Given the description of an element on the screen output the (x, y) to click on. 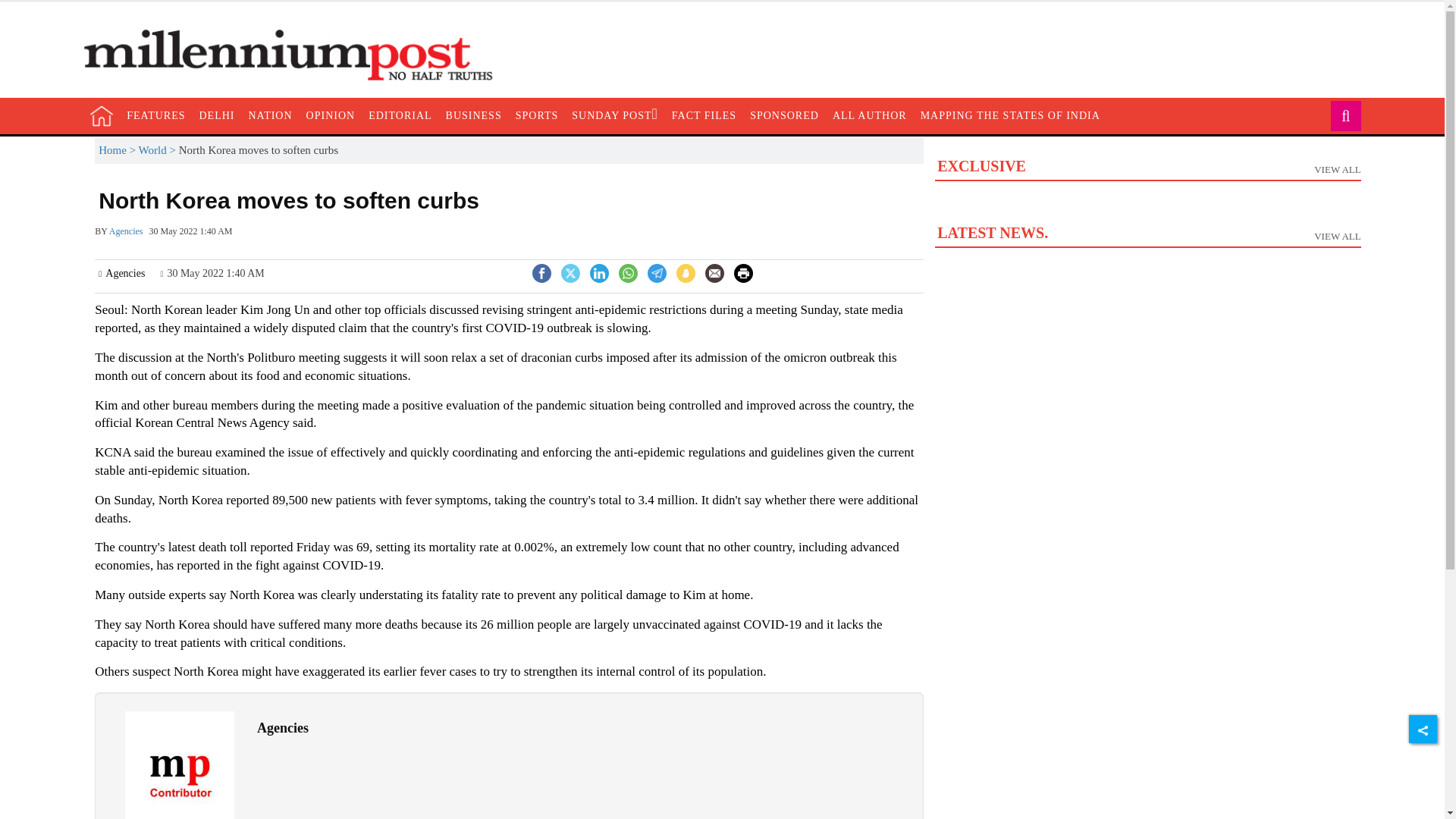
Email (713, 272)
NATION (269, 115)
SPONSORED (1146, 204)
print (783, 115)
BUSINESS (743, 273)
DELHI (473, 115)
MillenniumPost (216, 115)
koo (295, 55)
LinkedIn (685, 273)
SUNDAY POST (598, 271)
ALL AUTHOR (614, 115)
Share by Email (869, 115)
EDITORIAL (713, 275)
facebook (399, 115)
